Given the description of an element on the screen output the (x, y) to click on. 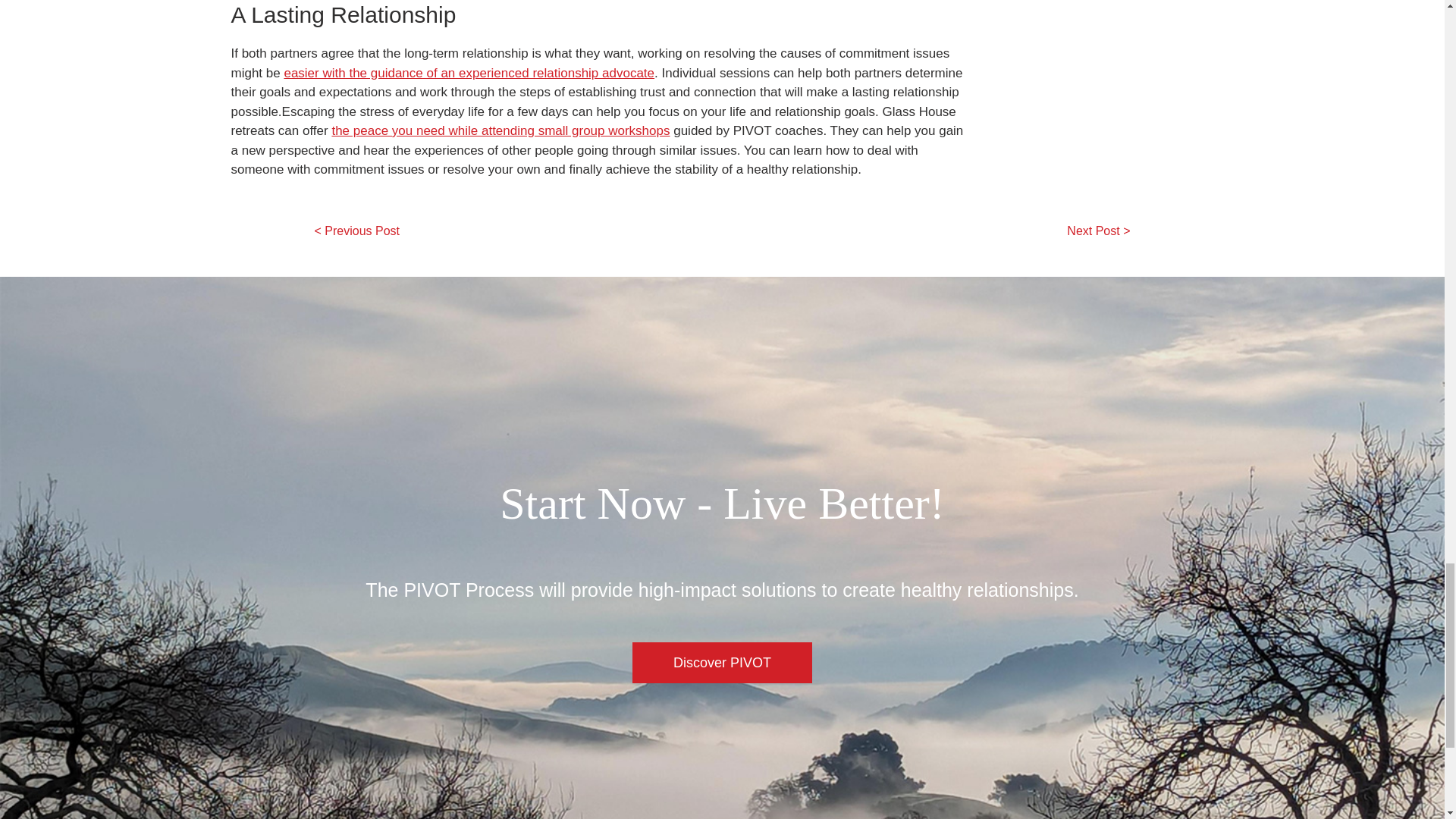
the peace you need while attending small group workshops (500, 130)
Discover PIVOT (721, 662)
